Given the description of an element on the screen output the (x, y) to click on. 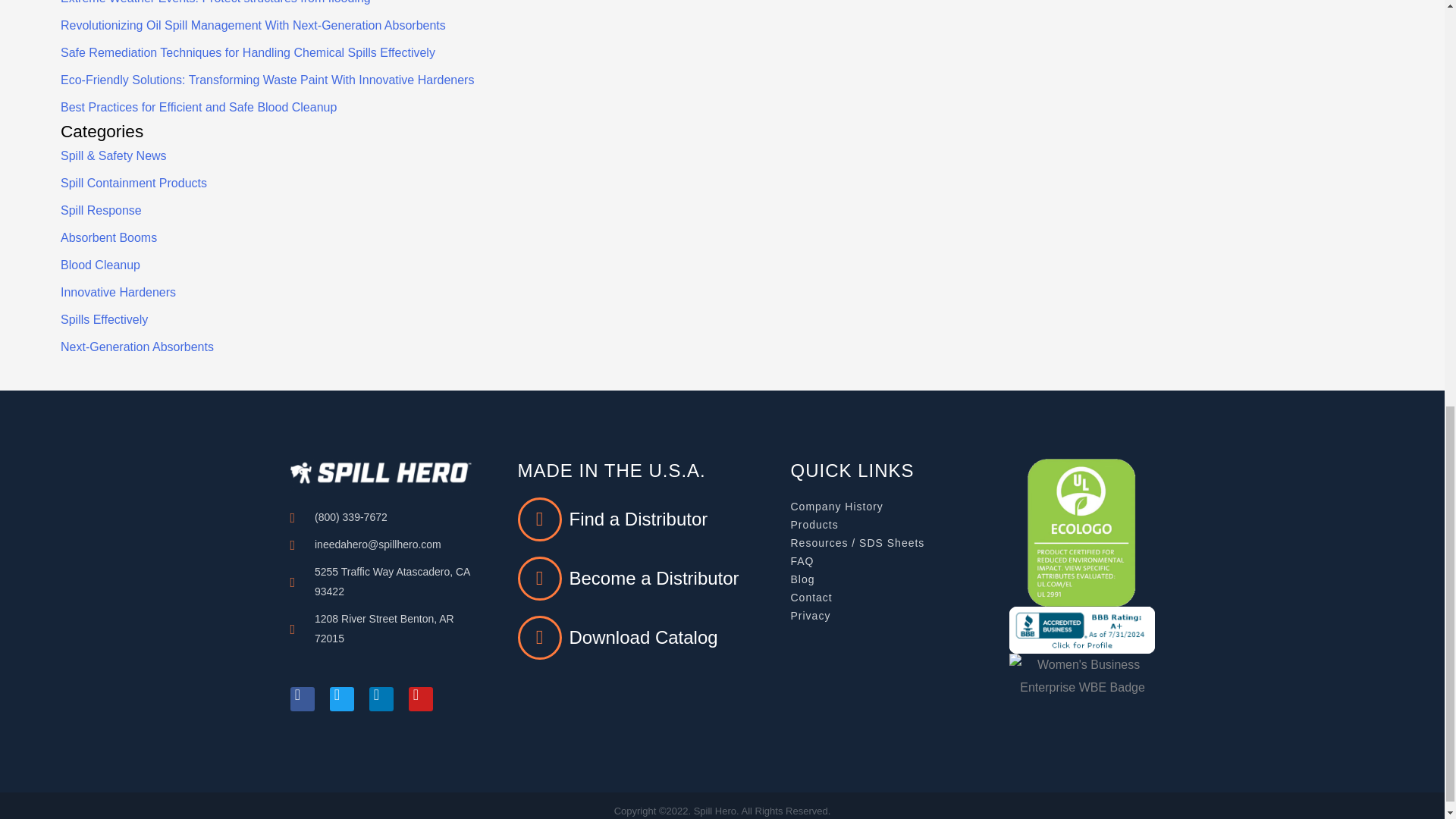
Extreme Weather Events: Protect structures from flooding (216, 2)
